Given the description of an element on the screen output the (x, y) to click on. 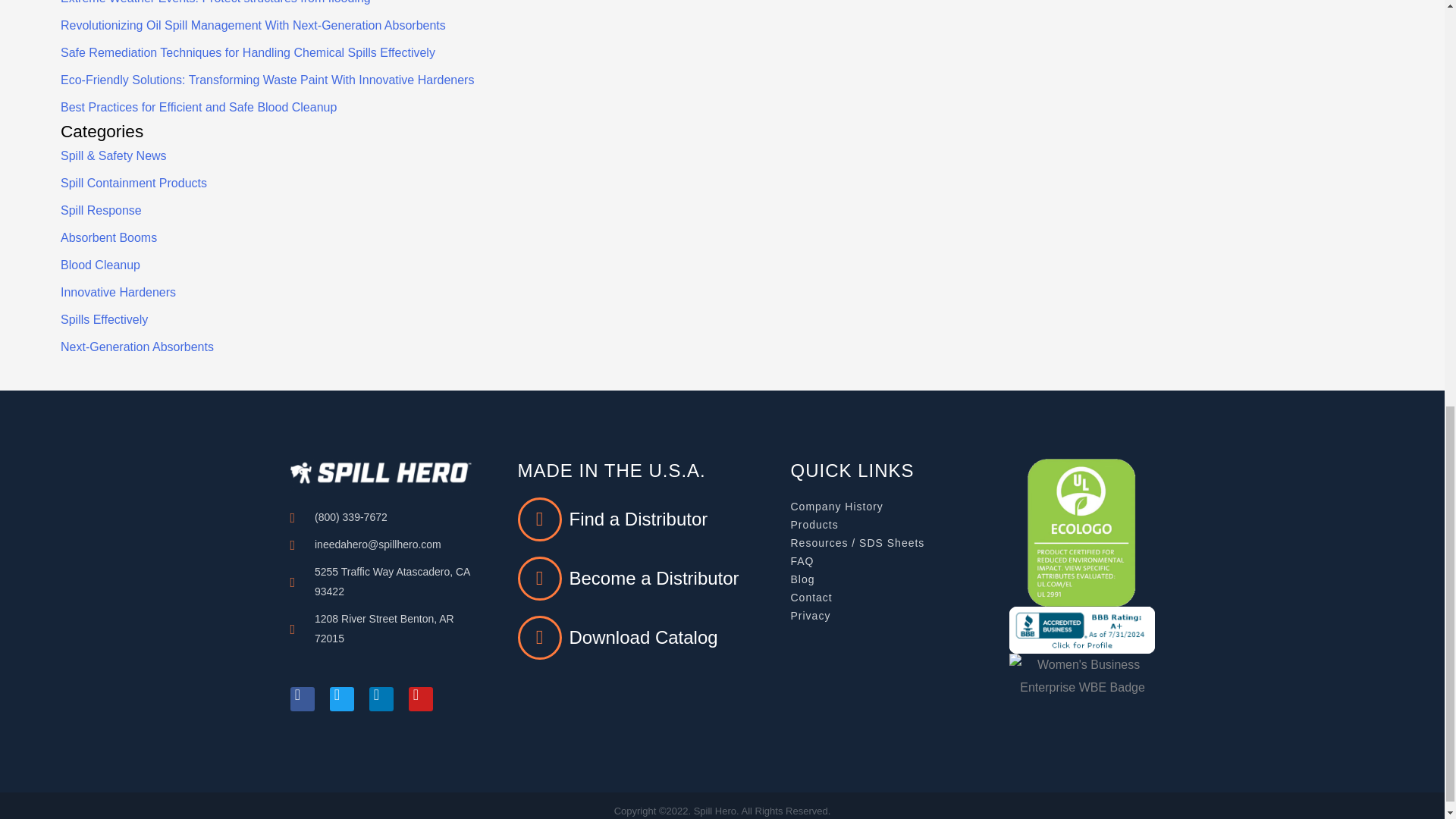
Extreme Weather Events: Protect structures from flooding (216, 2)
